Given the description of an element on the screen output the (x, y) to click on. 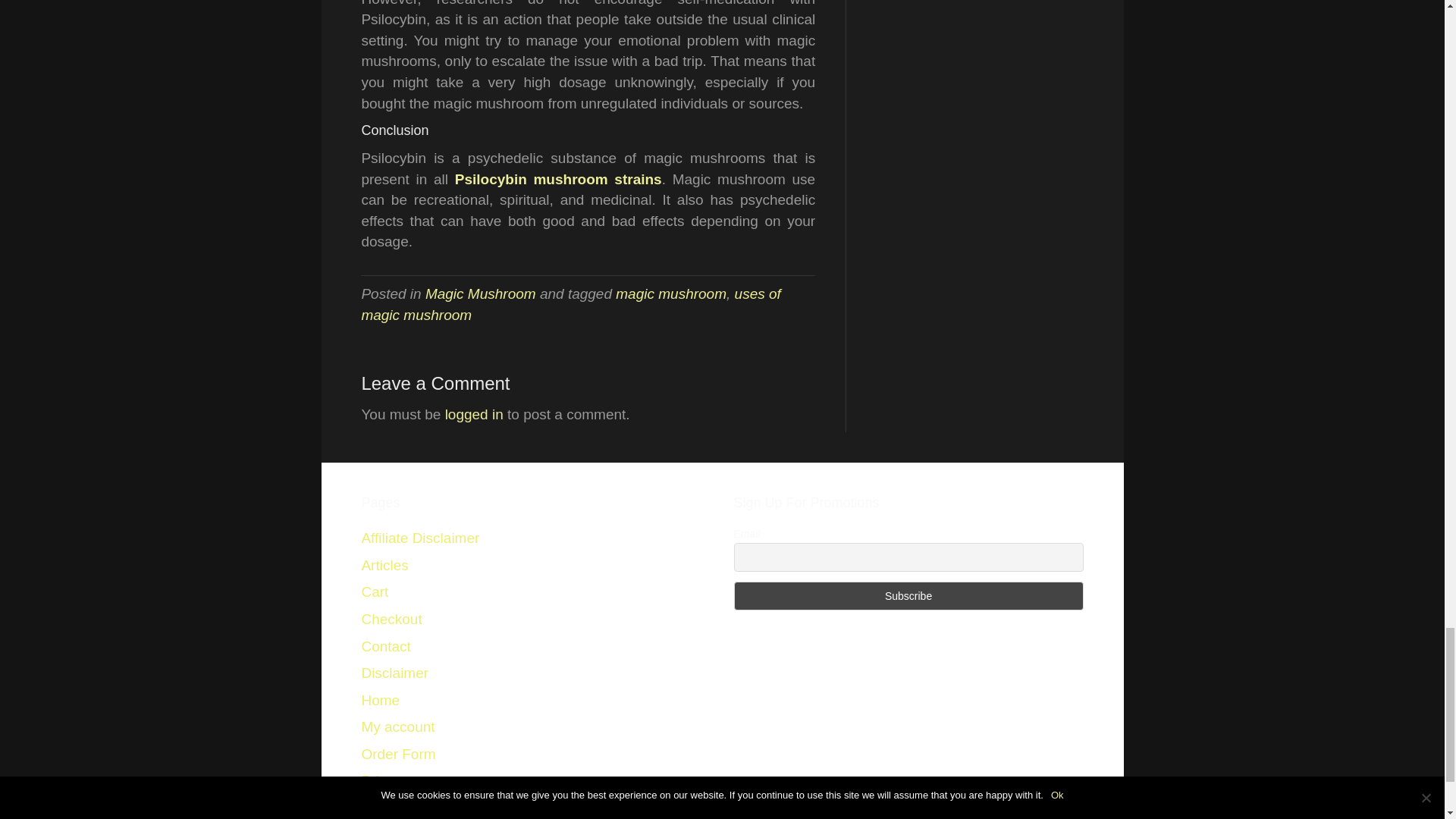
Subscribe (908, 595)
Psilocybin mushroom strains (558, 179)
logged in (474, 414)
uses of magic mushroom (570, 303)
magic mushroom (670, 293)
Magic Mushroom (480, 293)
